Given the description of an element on the screen output the (x, y) to click on. 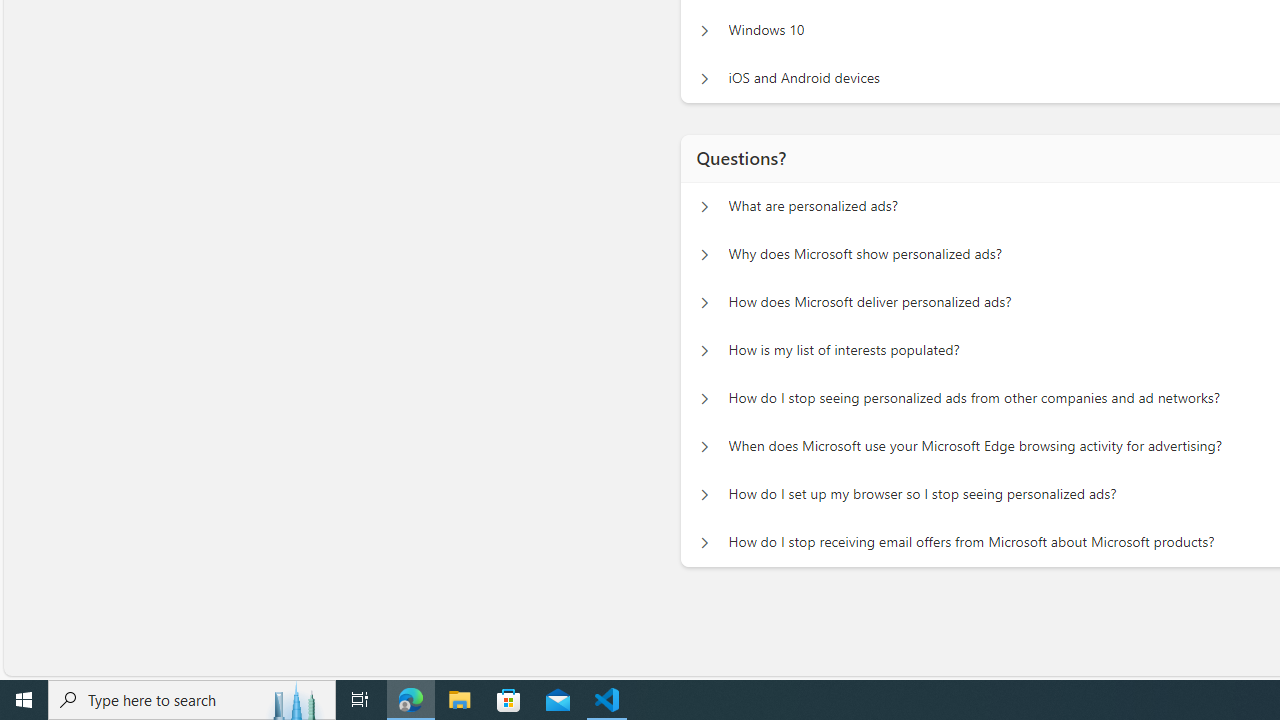
Questions? Why does Microsoft show personalized ads? (704, 255)
Questions? How does Microsoft deliver personalized ads? (704, 302)
Questions? What are personalized ads? (704, 206)
Manage personalized ads on your device Windows 10 (704, 30)
Questions? How is my list of interests populated? (704, 350)
